Given the description of an element on the screen output the (x, y) to click on. 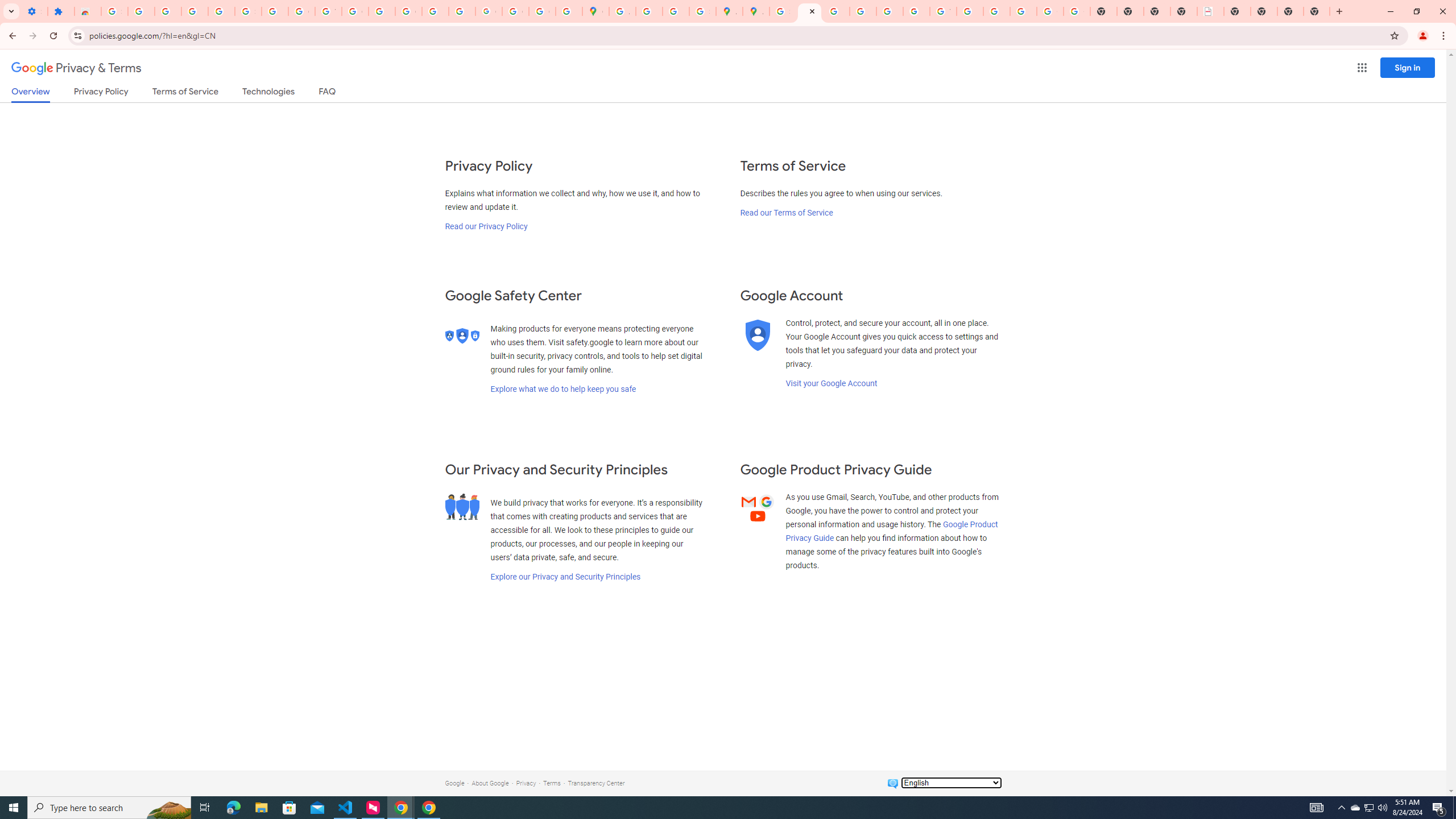
Read our Privacy Policy (485, 226)
YouTube (328, 11)
Google Account (301, 11)
Read our Terms of Service (785, 212)
